Given the description of an element on the screen output the (x, y) to click on. 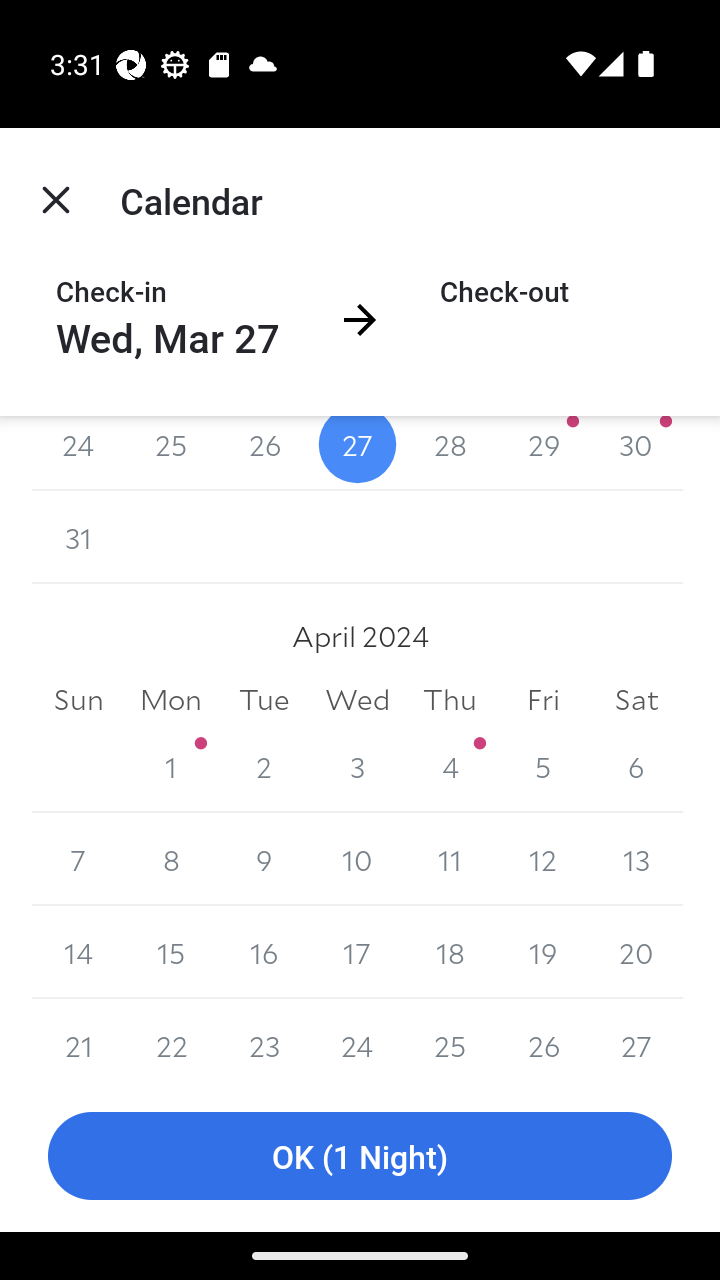
24 24 March 2024 (78, 453)
25 25 March 2024 (171, 453)
26 26 March 2024 (264, 453)
27 27 March 2024 (357, 453)
28 28 March 2024 (449, 453)
29 29 March 2024 (542, 453)
30 30 March 2024 (636, 453)
31 31 March 2024 (78, 537)
Sun (78, 698)
Mon (171, 698)
Tue (264, 698)
Wed (357, 698)
Thu (449, 698)
Fri (542, 698)
Sat (636, 698)
1 1 April 2024 (171, 765)
2 2 April 2024 (264, 765)
3 3 April 2024 (357, 765)
4 4 April 2024 (449, 765)
5 5 April 2024 (542, 765)
6 6 April 2024 (636, 765)
7 7 April 2024 (78, 859)
8 8 April 2024 (171, 859)
9 9 April 2024 (264, 859)
10 10 April 2024 (357, 859)
11 11 April 2024 (449, 859)
12 12 April 2024 (542, 859)
13 13 April 2024 (636, 859)
14 14 April 2024 (78, 952)
15 15 April 2024 (171, 952)
16 16 April 2024 (264, 952)
17 17 April 2024 (357, 952)
18 18 April 2024 (449, 952)
19 19 April 2024 (542, 952)
20 20 April 2024 (636, 952)
21 21 April 2024 (78, 1039)
22 22 April 2024 (171, 1039)
23 23 April 2024 (264, 1039)
24 24 April 2024 (357, 1039)
25 25 April 2024 (449, 1039)
26 26 April 2024 (542, 1039)
27 27 April 2024 (636, 1039)
OK (1 Night) (359, 1156)
